Given the description of an element on the screen output the (x, y) to click on. 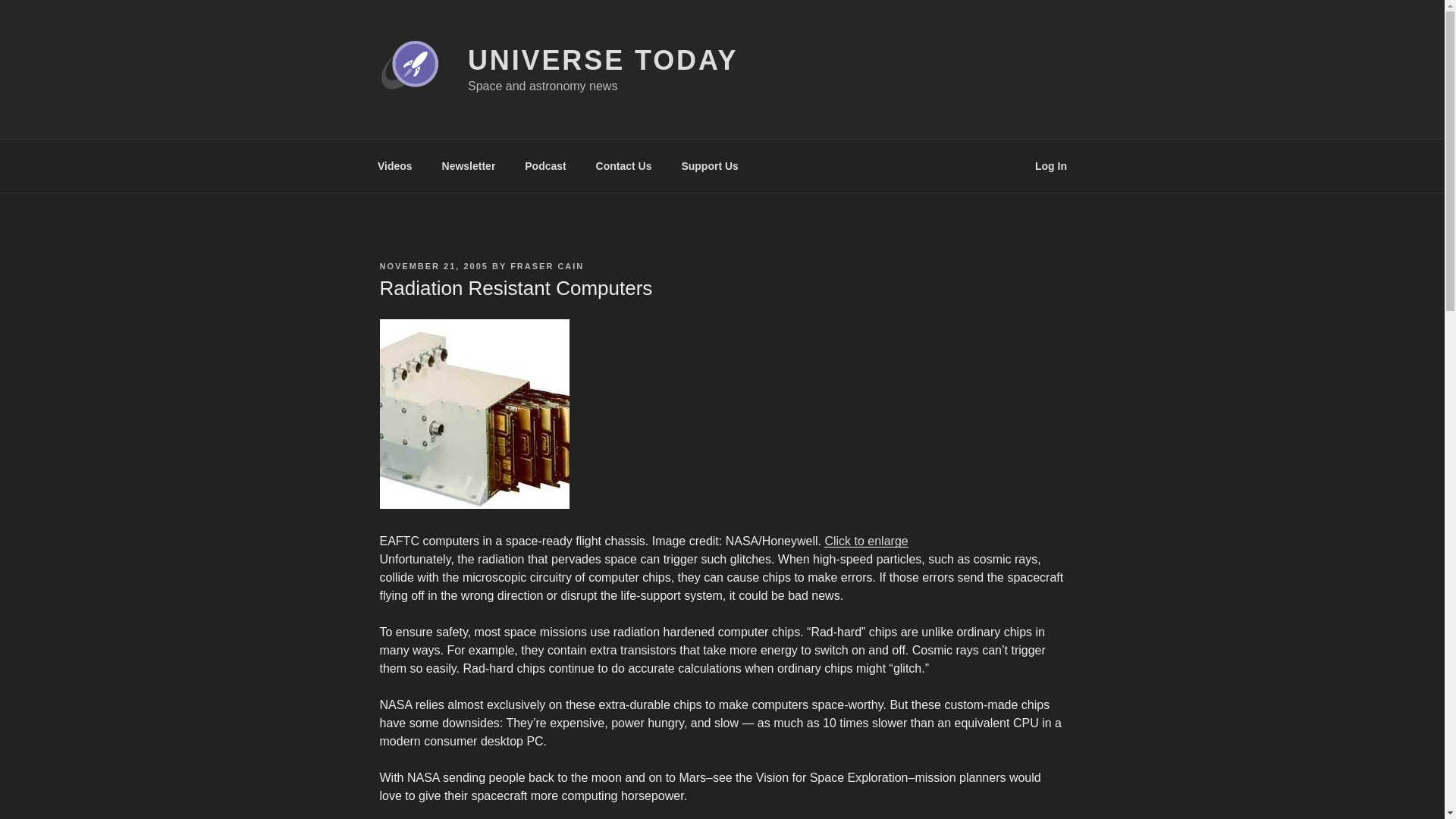
Podcast (545, 165)
Newsletter (468, 165)
NOVEMBER 21, 2005 (432, 266)
FRASER CAIN (547, 266)
Click to enlarge (865, 540)
Videos (394, 165)
Contact Us (623, 165)
UNIVERSE TODAY (602, 60)
Log In (1051, 165)
Support Us (709, 165)
